Given the description of an element on the screen output the (x, y) to click on. 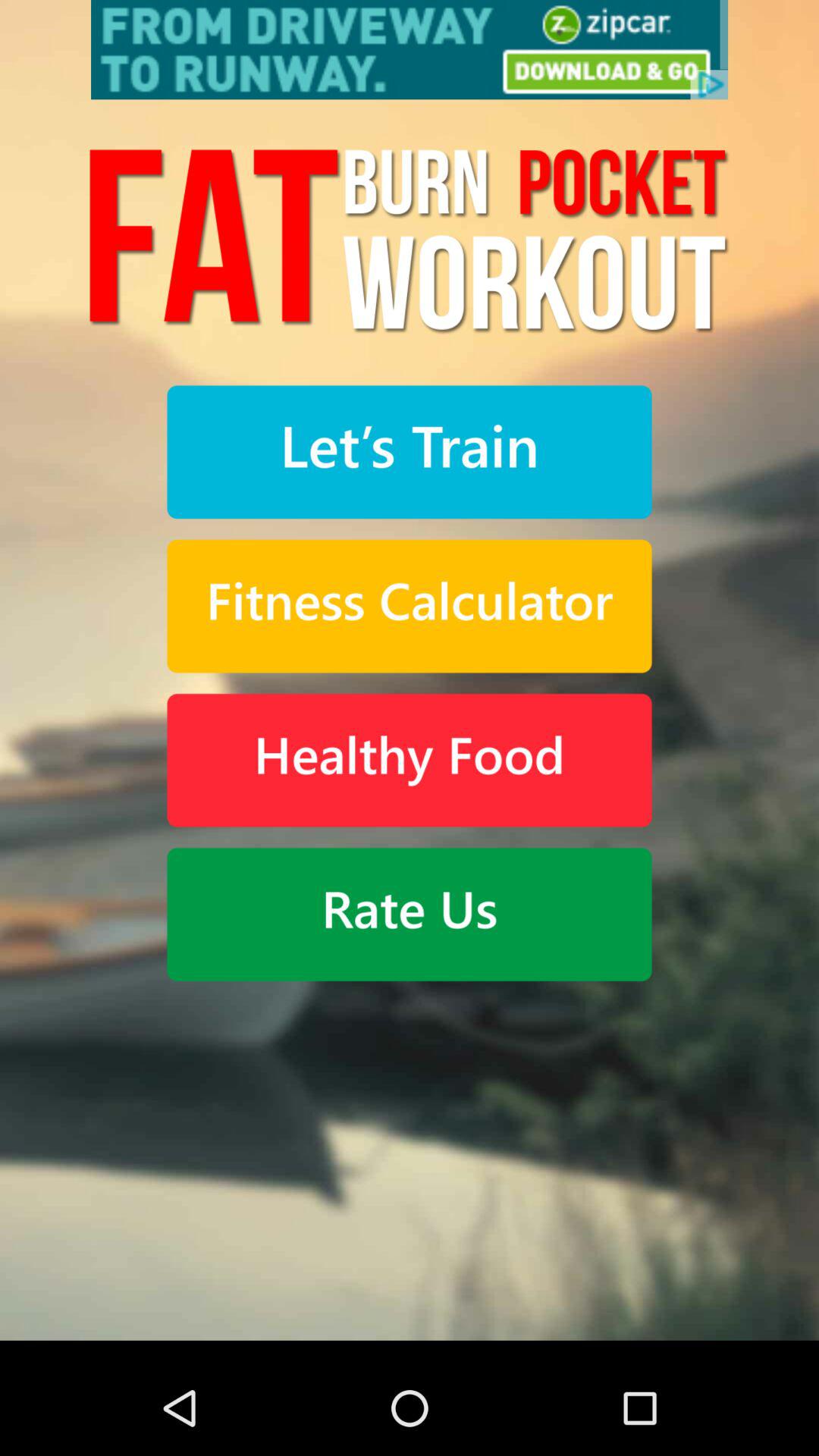
advertisement rate us (409, 49)
